Given the description of an element on the screen output the (x, y) to click on. 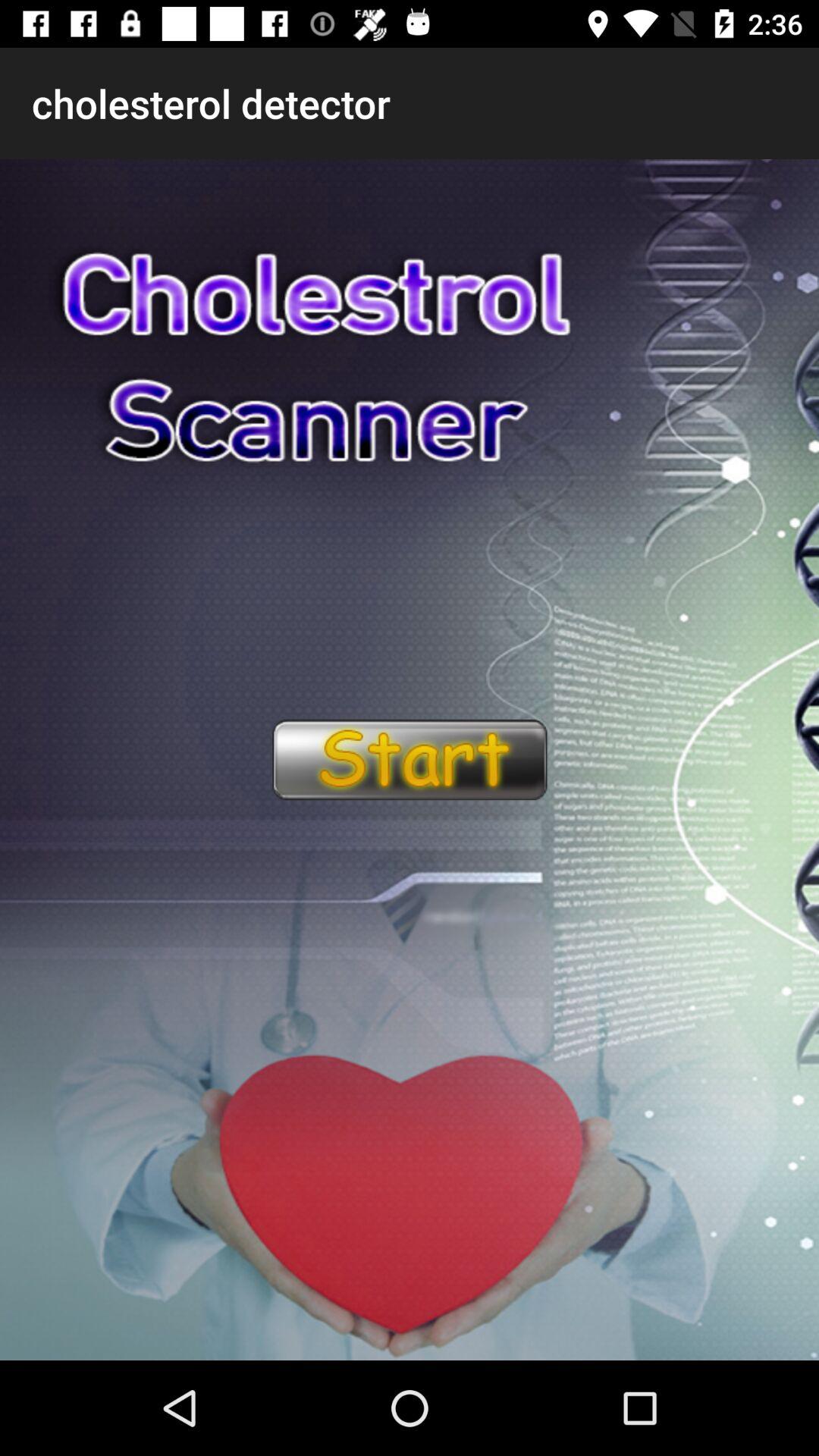
start the scanner (409, 759)
